Given the description of an element on the screen output the (x, y) to click on. 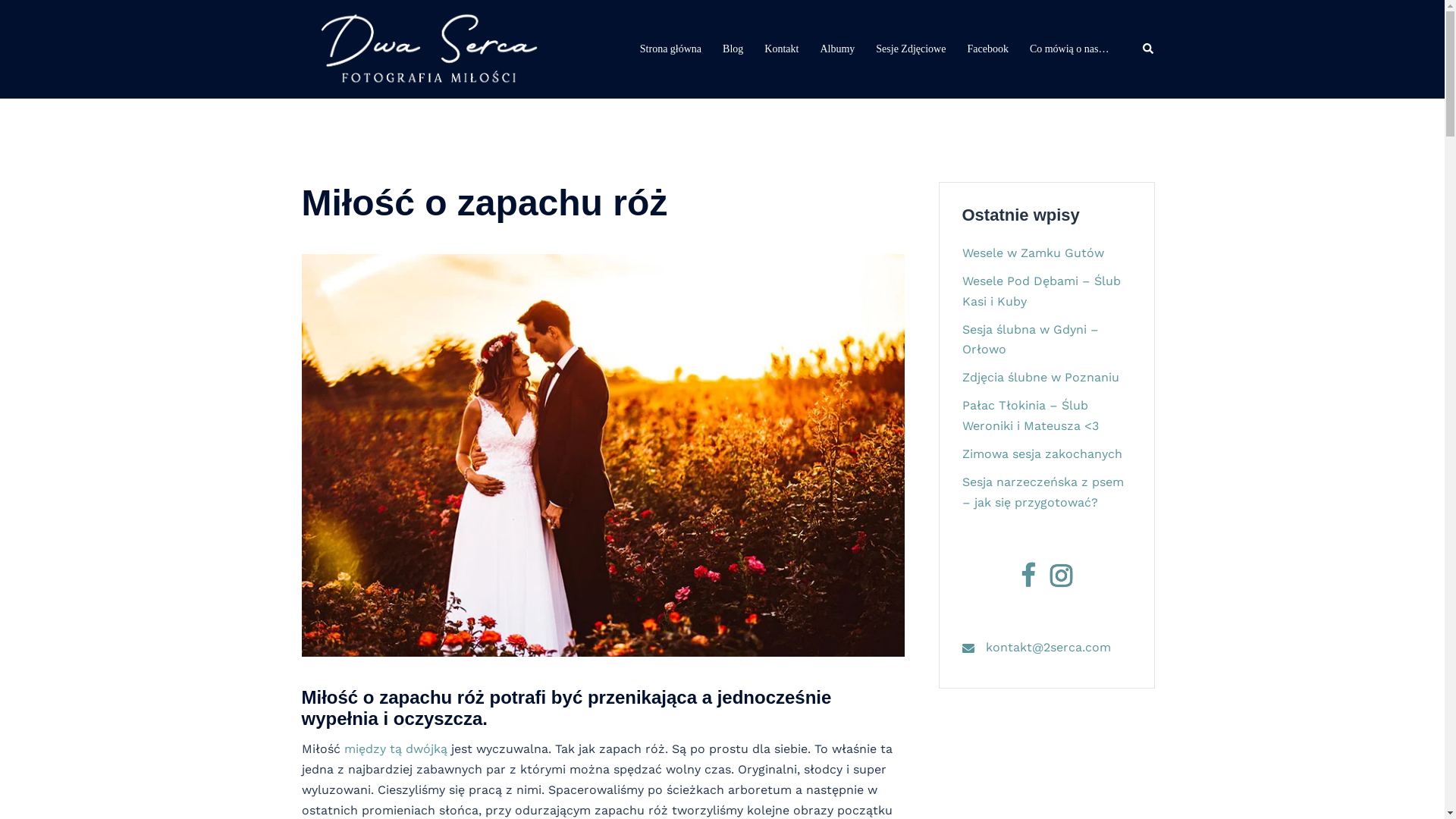
Kontakt Element type: text (781, 49)
Wyszukiwanie Element type: text (1148, 49)
Zimowa sesja zakochanych Element type: text (1041, 453)
Facebook Element type: text (986, 49)
kontakt@2serca.com Element type: text (1047, 647)
Albumy Element type: text (836, 49)
Blog Element type: text (732, 49)
Facebook Element type: text (1027, 580)
Instagram Element type: text (1061, 580)
